Given the description of an element on the screen output the (x, y) to click on. 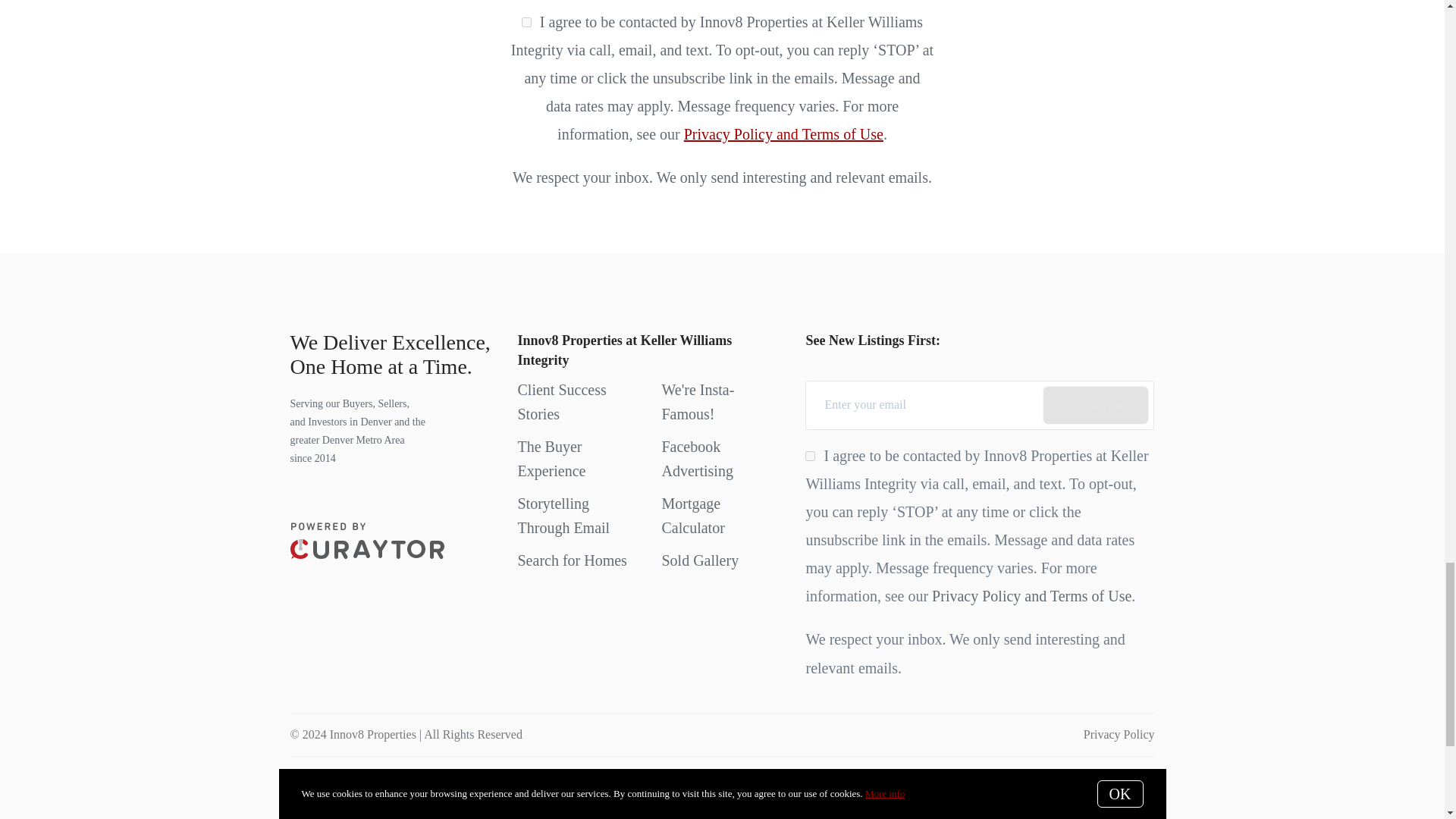
on (526, 22)
on (810, 456)
curaytor-horizontal (366, 540)
